Given the description of an element on the screen output the (x, y) to click on. 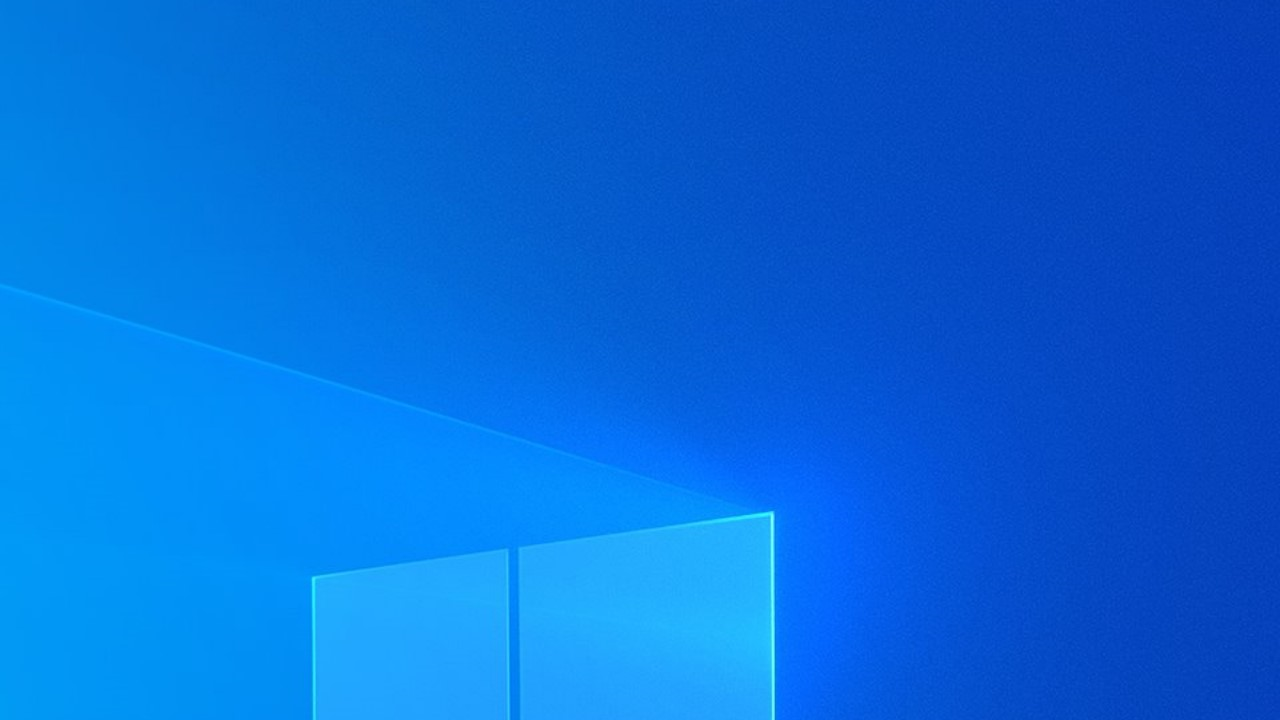
Design Idea (1124, 577)
